Given the description of an element on the screen output the (x, y) to click on. 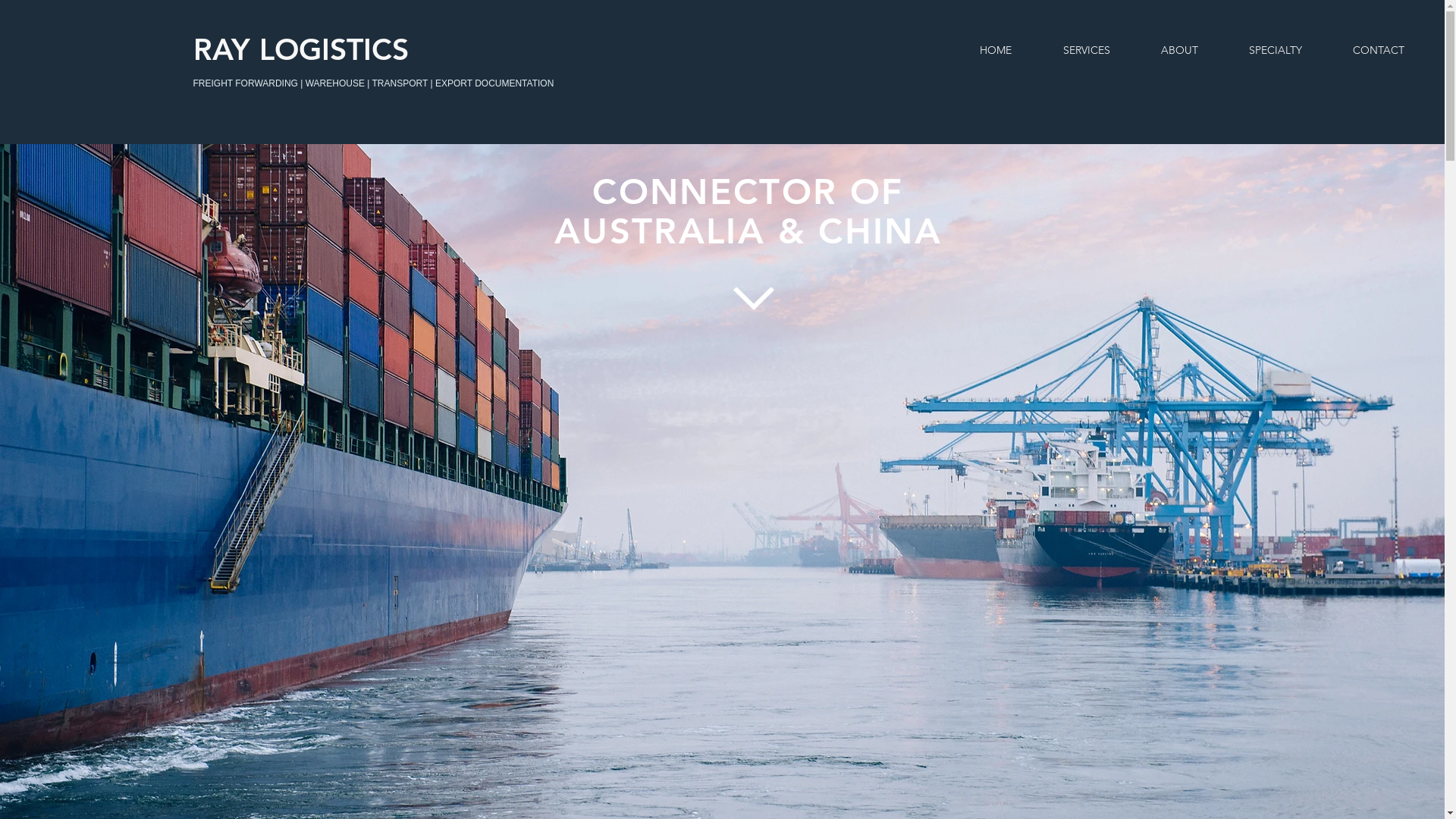
SERVICES Element type: text (1086, 50)
SPECIALTY Element type: text (1275, 50)
ABOUT Element type: text (1179, 50)
HOME Element type: text (995, 50)
CONTACT Element type: text (1378, 50)
